Given the description of an element on the screen output the (x, y) to click on. 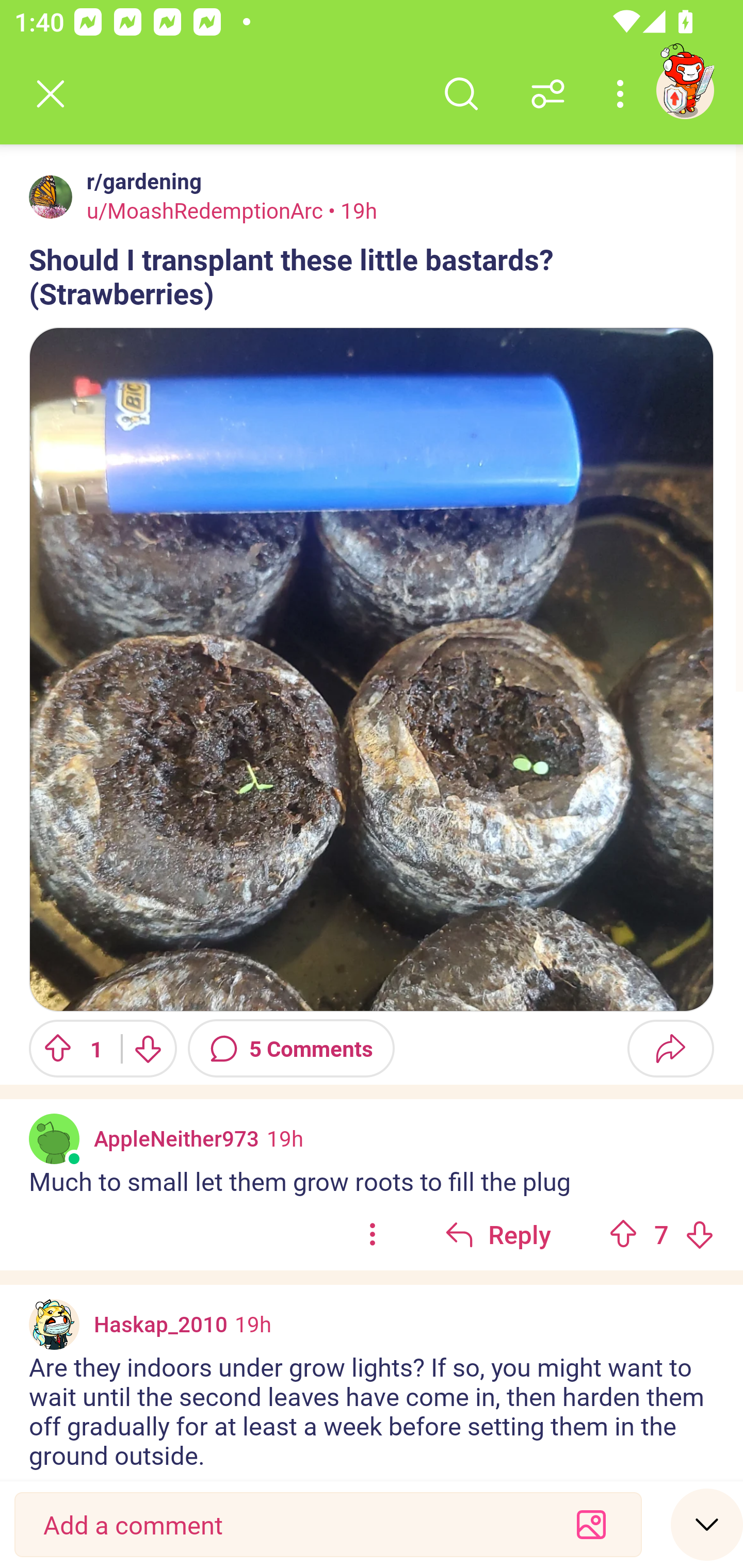
Back (50, 93)
TestAppium002 account (685, 90)
Search comments (460, 93)
Sort comments (547, 93)
More options (623, 93)
r/gardening (140, 181)
Avatar (50, 196)
u/MoashRedemptionArc (204, 210)
Image (371, 669)
Upvote 1 (67, 1048)
Downvote (146, 1048)
5 Comments (290, 1048)
Share (670, 1048)
Avatar (53, 1138)
19h (284, 1137)
Much to small let them grow roots to fill the plug (371, 1180)
options (372, 1233)
Reply (498, 1233)
Upvote 7 7 votes Downvote (661, 1233)
Upvote (622, 1233)
Downvote (699, 1233)
Custom avatar (53, 1324)
19h (252, 1324)
Speed read (706, 1524)
Add a comment (291, 1524)
Add an image (590, 1524)
